Given the description of an element on the screen output the (x, y) to click on. 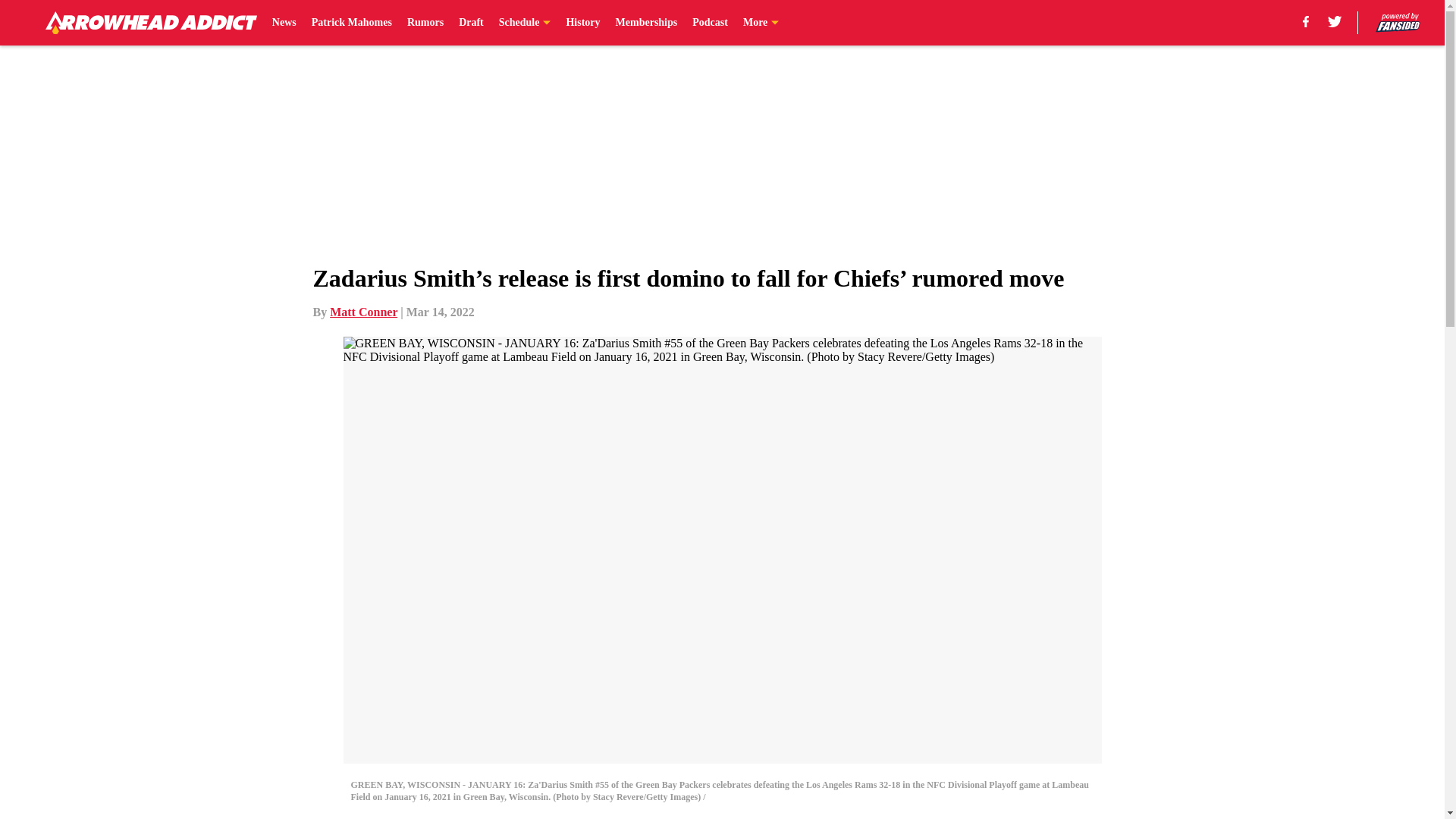
Patrick Mahomes (351, 22)
History (582, 22)
News (284, 22)
Draft (470, 22)
Podcast (710, 22)
Matt Conner (363, 311)
Memberships (646, 22)
Rumors (425, 22)
